Given the description of an element on the screen output the (x, y) to click on. 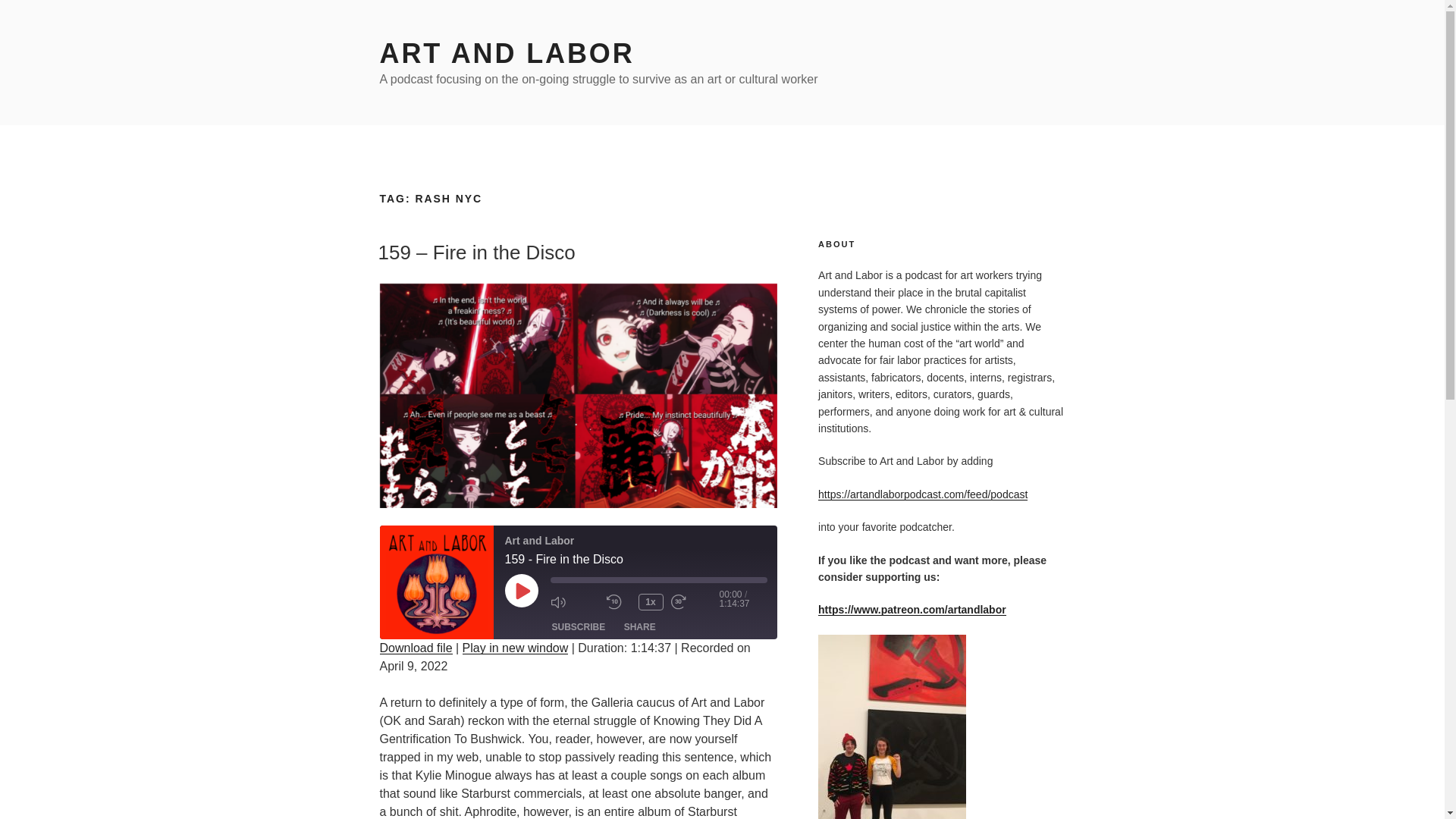
SHARE (639, 627)
Fast Forward 30 seconds (694, 601)
Share (639, 627)
Rewind 10 seconds (618, 601)
Play in new window (516, 647)
Seek (658, 580)
SUBSCRIBE (578, 627)
Download file (414, 647)
1x (651, 601)
Art and Labor (435, 582)
